Given the description of an element on the screen output the (x, y) to click on. 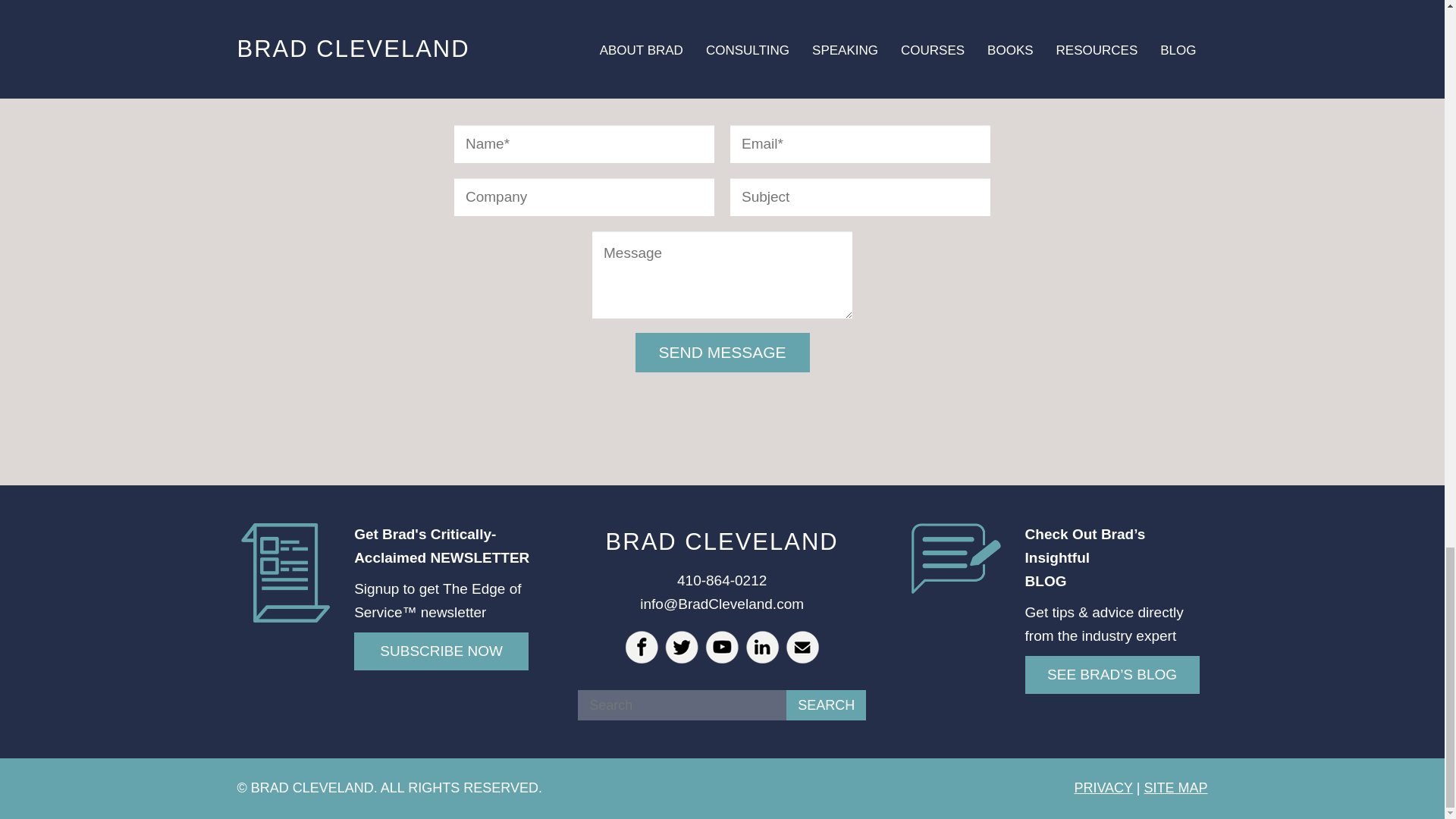
Send Message (721, 352)
